Given the description of an element on the screen output the (x, y) to click on. 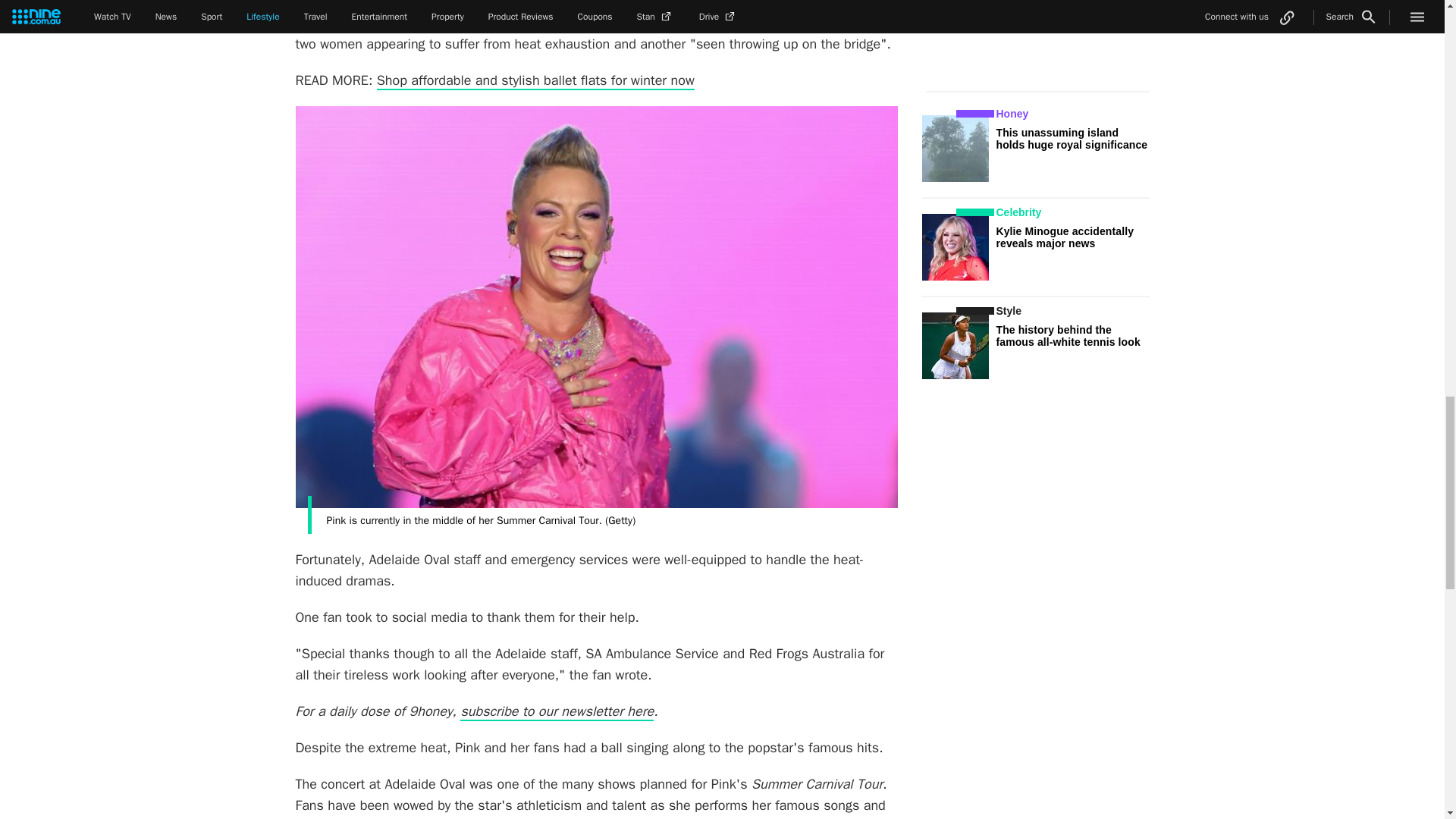
The Advertiser (547, 23)
subscribe to our newsletter here (556, 711)
The Advertiser (547, 23)
